Given the description of an element on the screen output the (x, y) to click on. 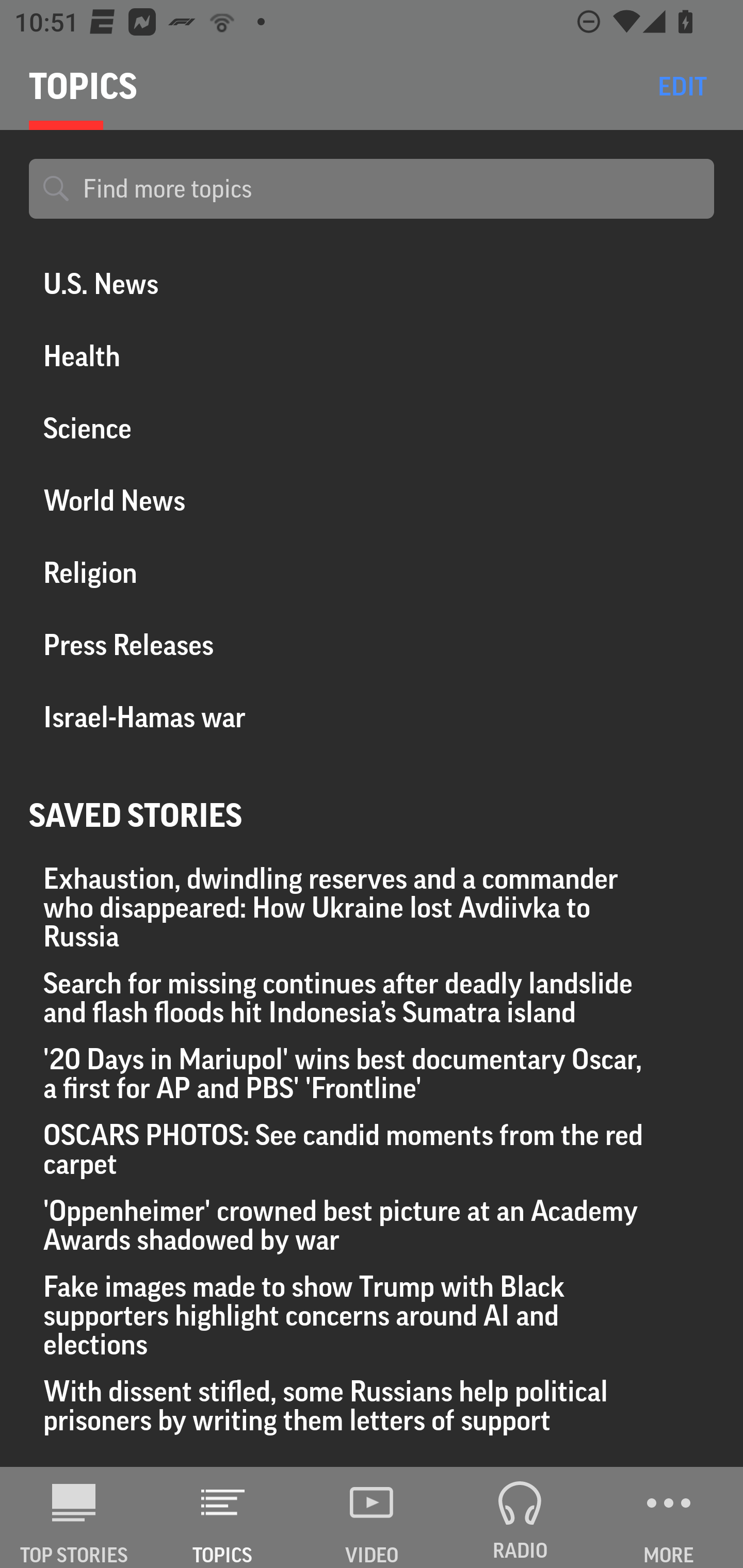
EDIT (682, 86)
Find more topics (391, 188)
U.S. News (185, 283)
Health (185, 355)
Science (185, 428)
World News (185, 500)
Religion (185, 572)
Press Releases (185, 645)
Israel-Hamas war (185, 718)
AP News TOP STORIES (74, 1517)
TOPICS (222, 1517)
VIDEO (371, 1517)
RADIO (519, 1517)
MORE (668, 1517)
